Given the description of an element on the screen output the (x, y) to click on. 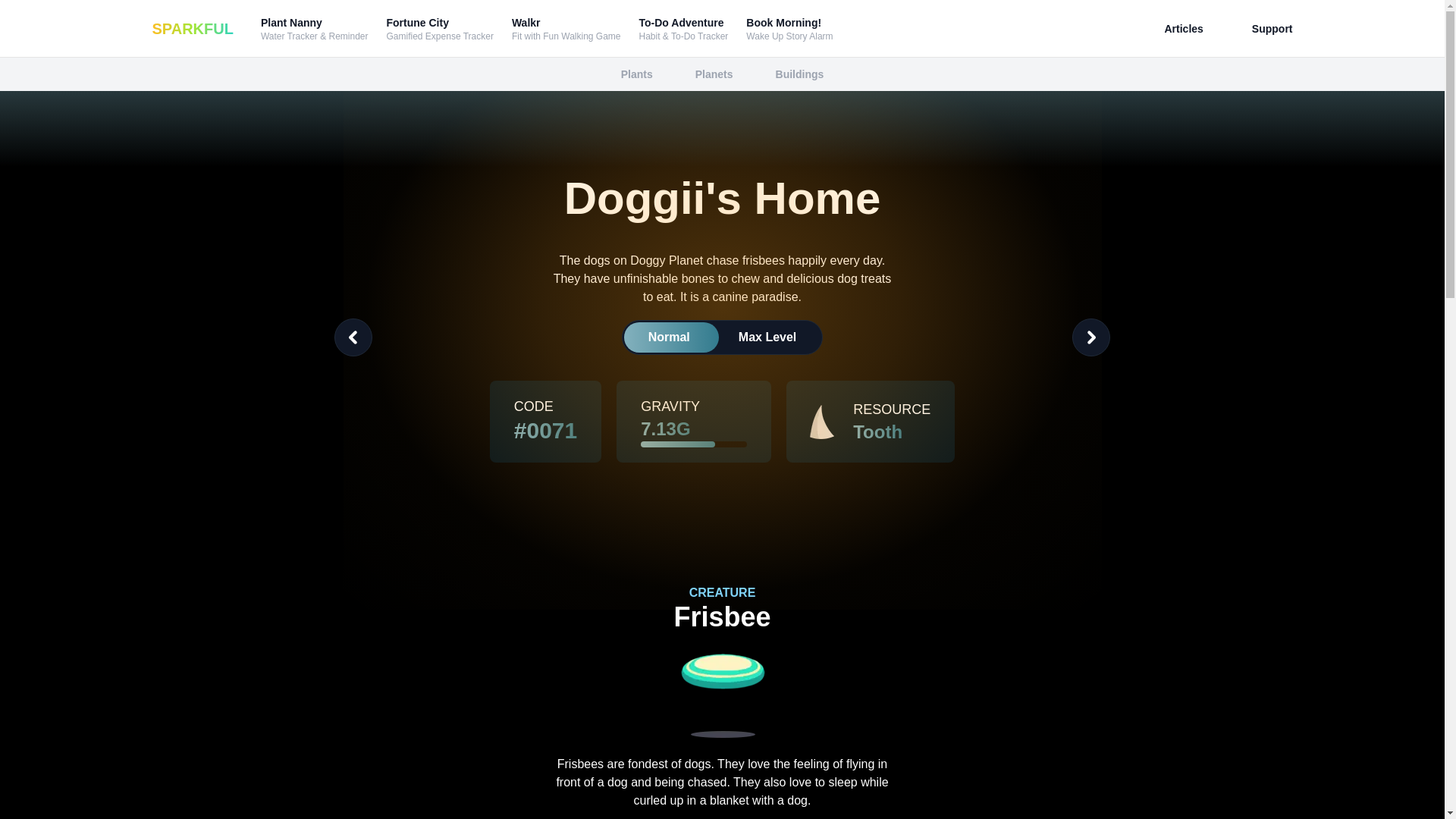
Articles (1182, 28)
Buildings (788, 28)
Plants (799, 73)
SPARKFUL (636, 73)
Planets (191, 28)
